Given the description of an element on the screen output the (x, y) to click on. 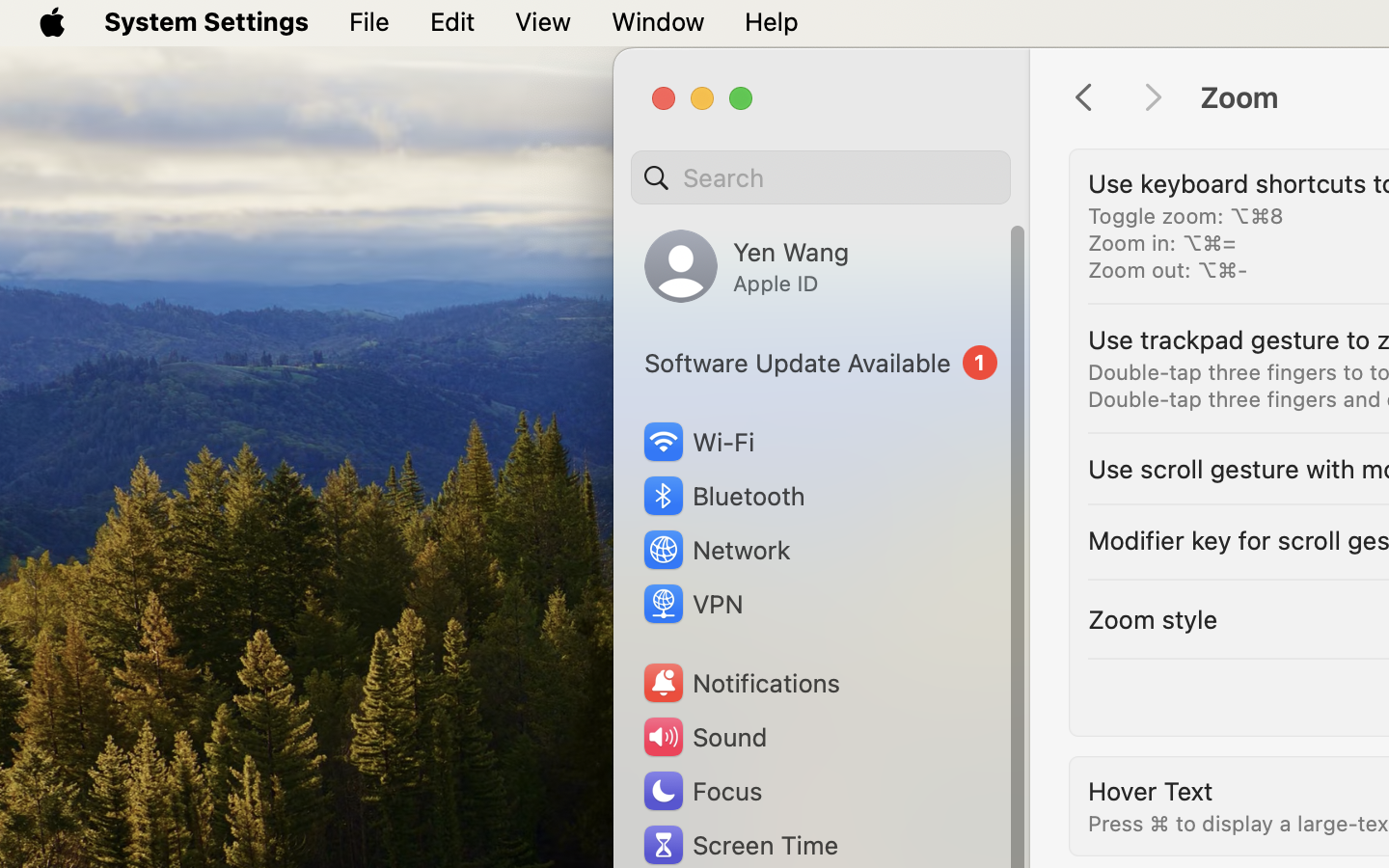
Screen Time Element type: AXStaticText (739, 844)
Bluetooth Element type: AXStaticText (723, 495)
VPN Element type: AXStaticText (691, 603)
